Given the description of an element on the screen output the (x, y) to click on. 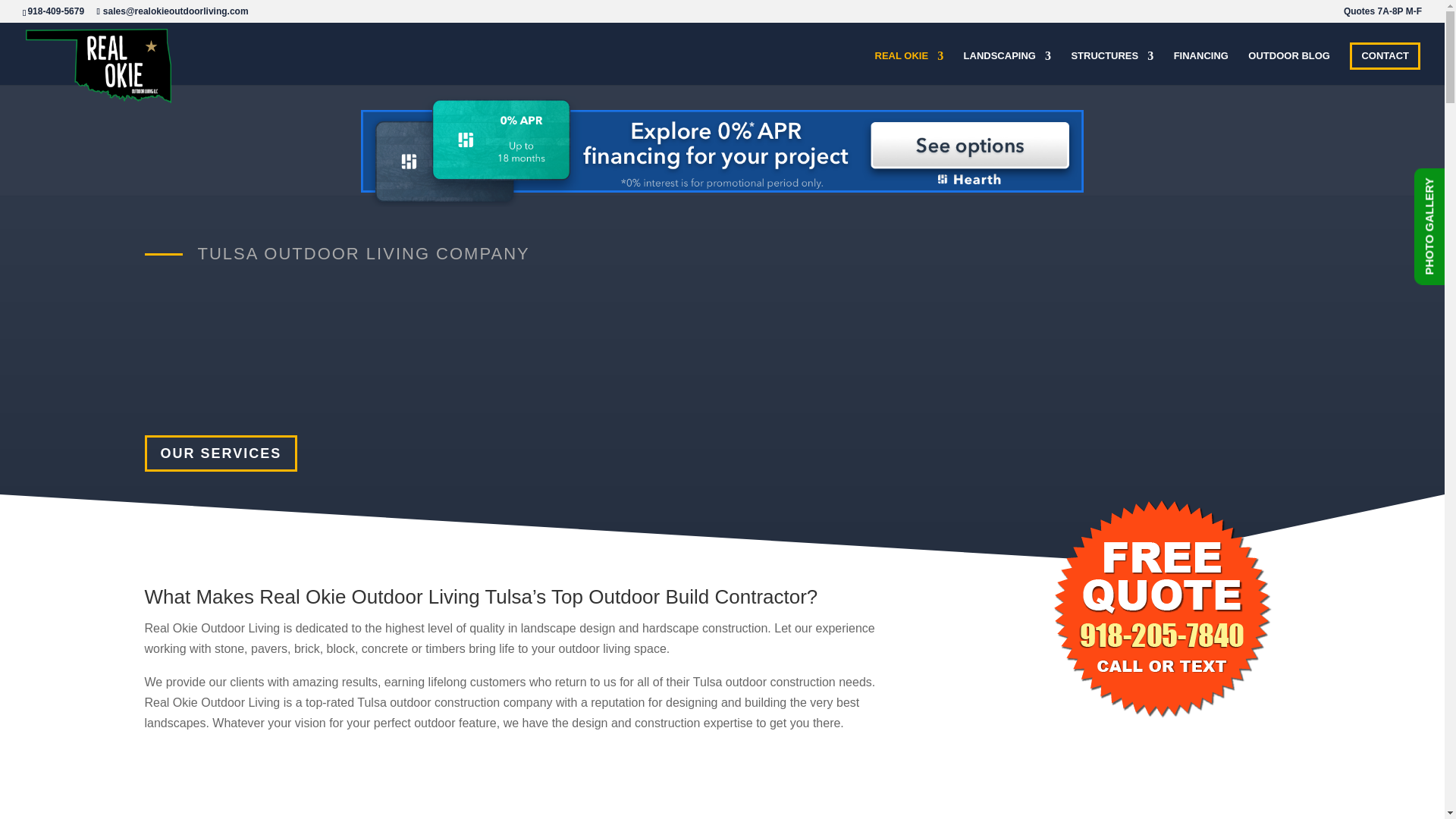
OUR SERVICES (220, 452)
FINANCING (1200, 65)
Quotes 7A-8P M-F (1382, 14)
OUTDOOR BLOG (1288, 65)
STRUCTURES (1111, 65)
REAL OKIE (909, 65)
CONTACT (1385, 55)
LANDSCAPING (1007, 65)
